Given the description of an element on the screen output the (x, y) to click on. 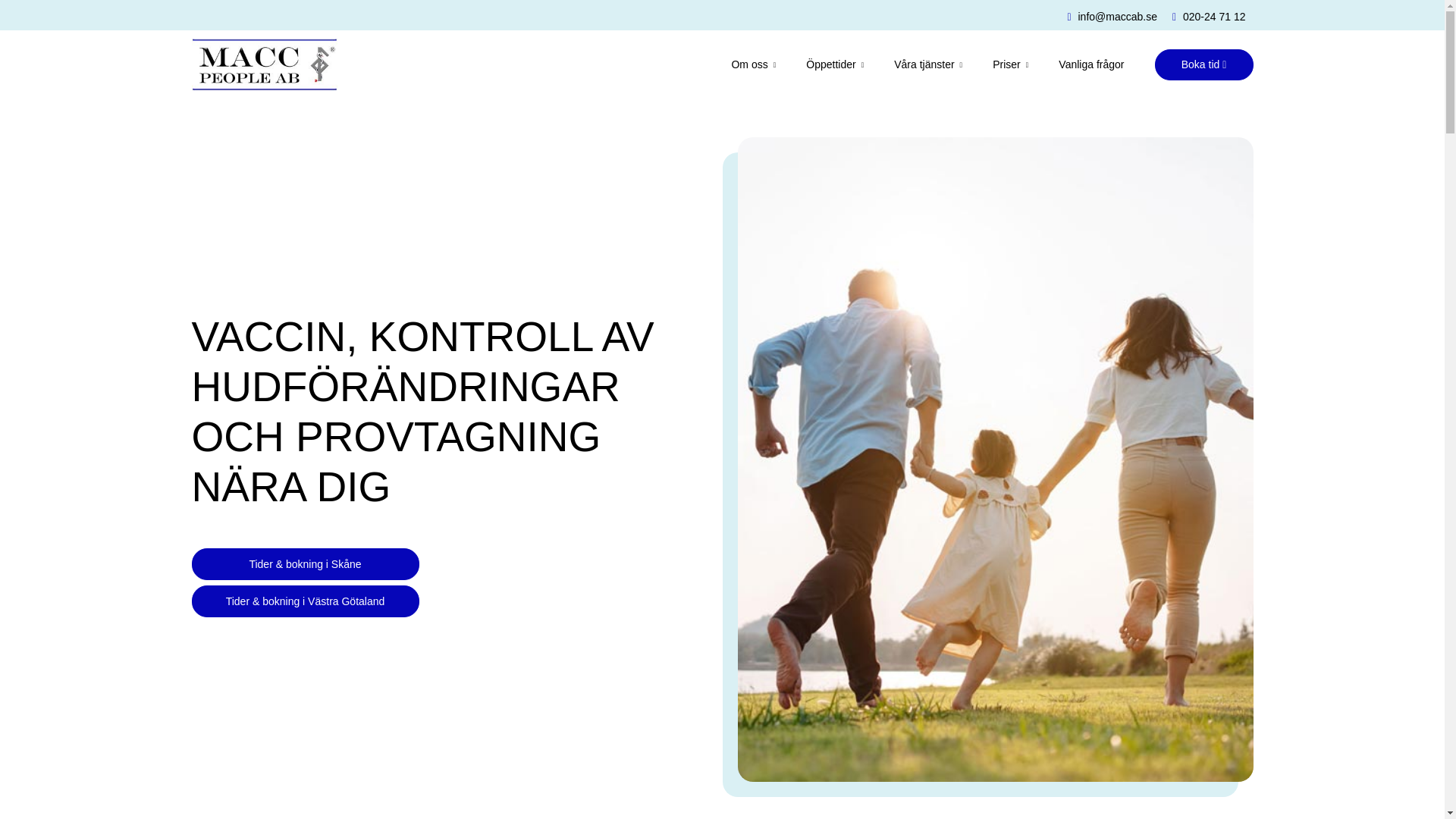
Om oss (738, 64)
MACC PEOPLE AB (263, 64)
020-24 71 12 (1208, 16)
Priser (994, 64)
